Given the description of an element on the screen output the (x, y) to click on. 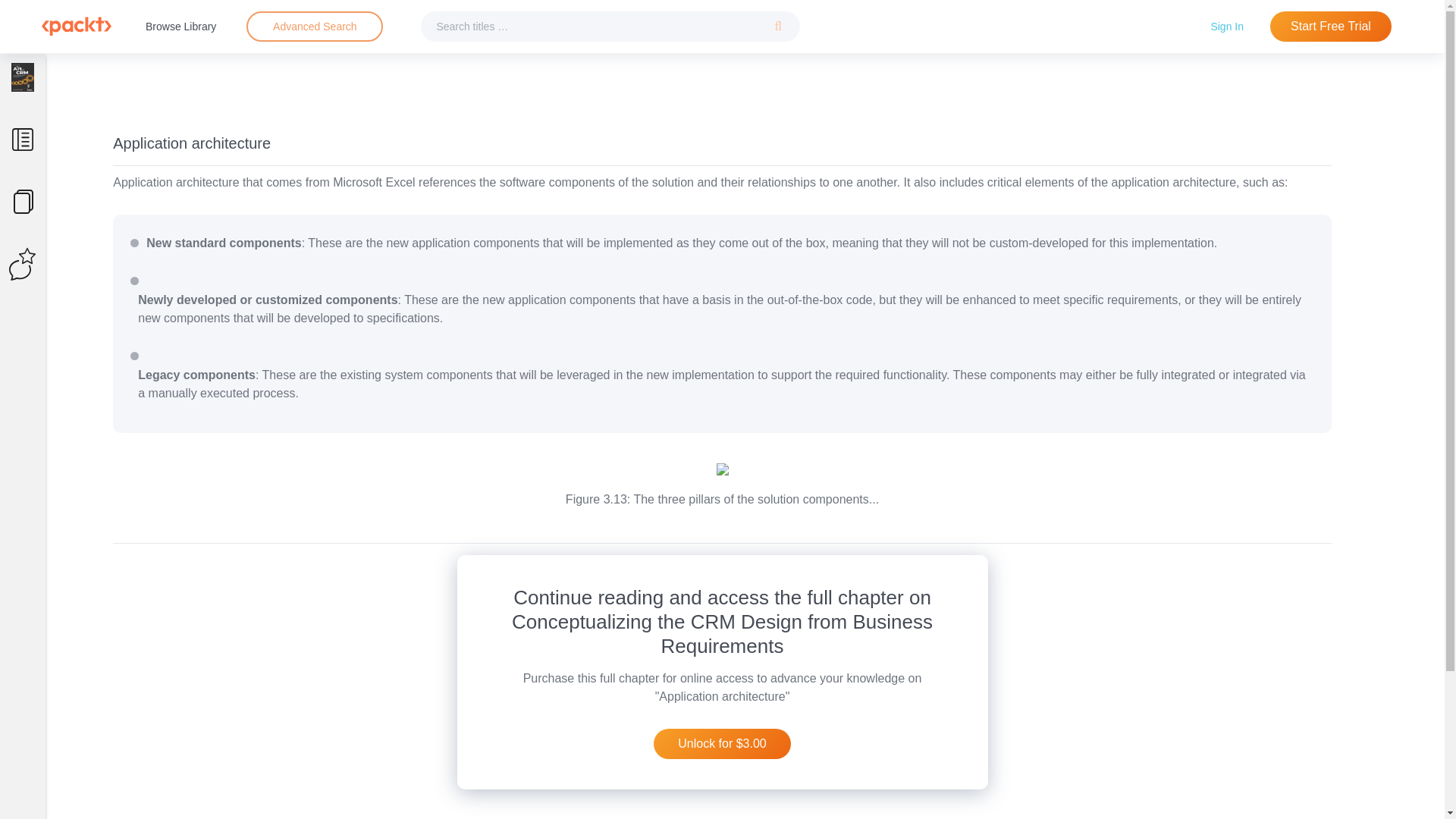
Advanced search (314, 26)
Advanced Search (314, 26)
Advanced Search (315, 26)
Sign In (1227, 26)
Start Free Trial (1330, 26)
Browse Library (180, 26)
